Given the description of an element on the screen output the (x, y) to click on. 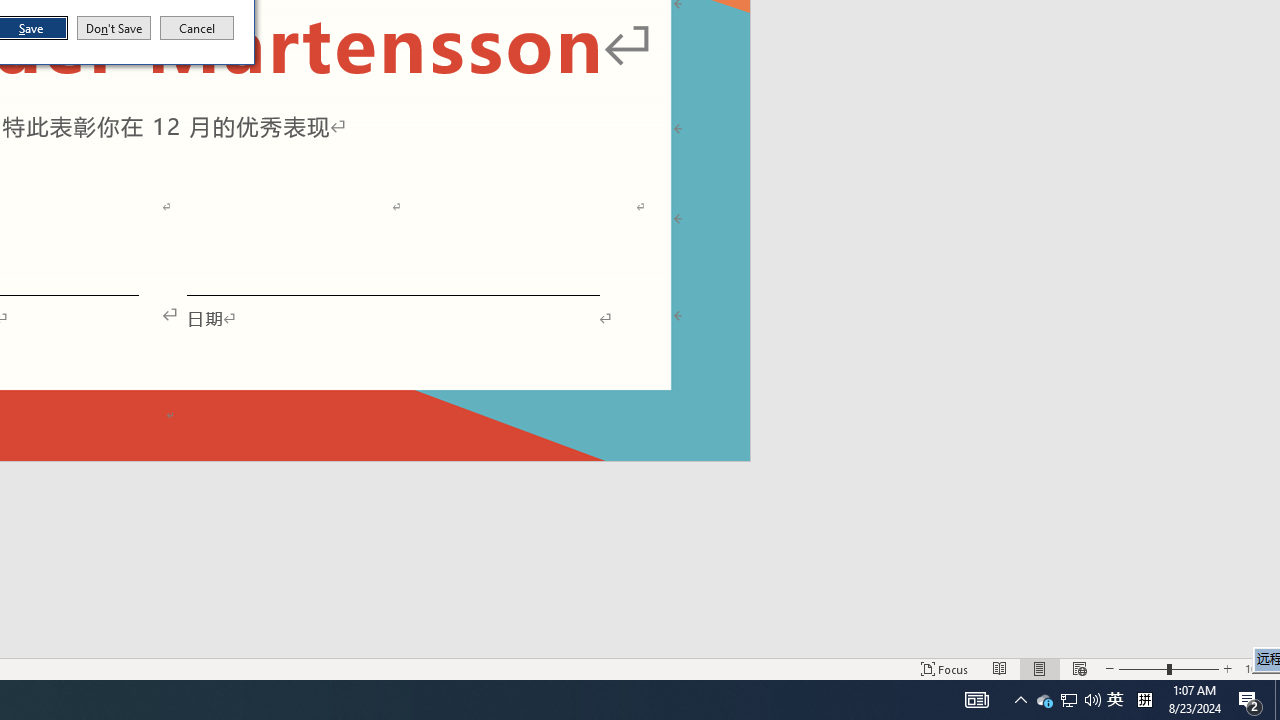
Don't Save (1069, 699)
Action Center, 2 new notifications (113, 27)
Tray Input Indicator - Chinese (Simplified, China) (1250, 699)
Show desktop (1144, 699)
User Promoted Notification Area (1044, 699)
Zoom 104% (1277, 699)
